Given the description of an element on the screen output the (x, y) to click on. 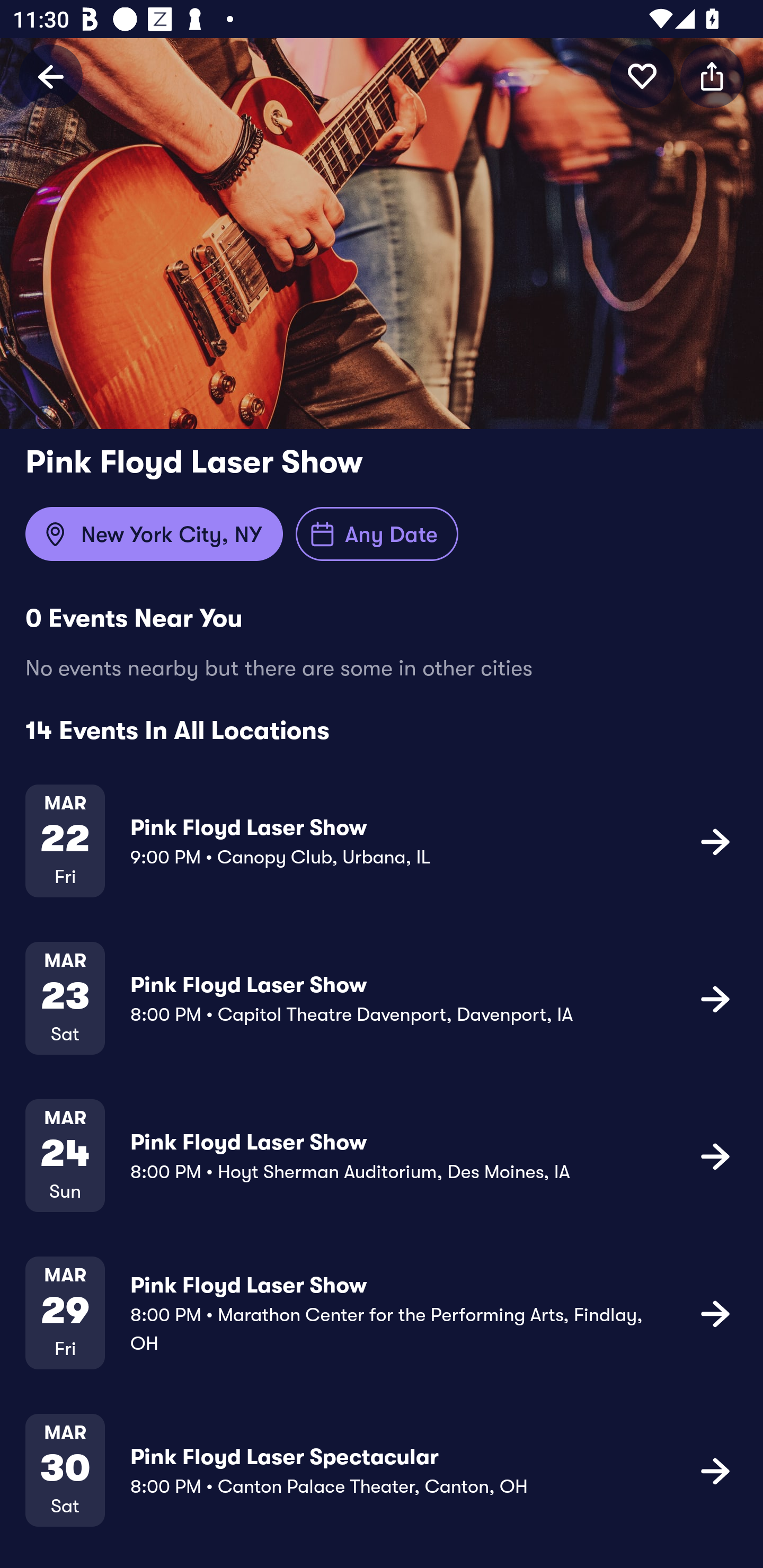
Back (50, 75)
icon button (641, 75)
icon button (711, 75)
New York City, NY (153, 533)
Any Date (377, 533)
icon button (714, 840)
icon button (714, 998)
icon button (714, 1155)
icon button (714, 1312)
icon button (714, 1470)
